Given the description of an element on the screen output the (x, y) to click on. 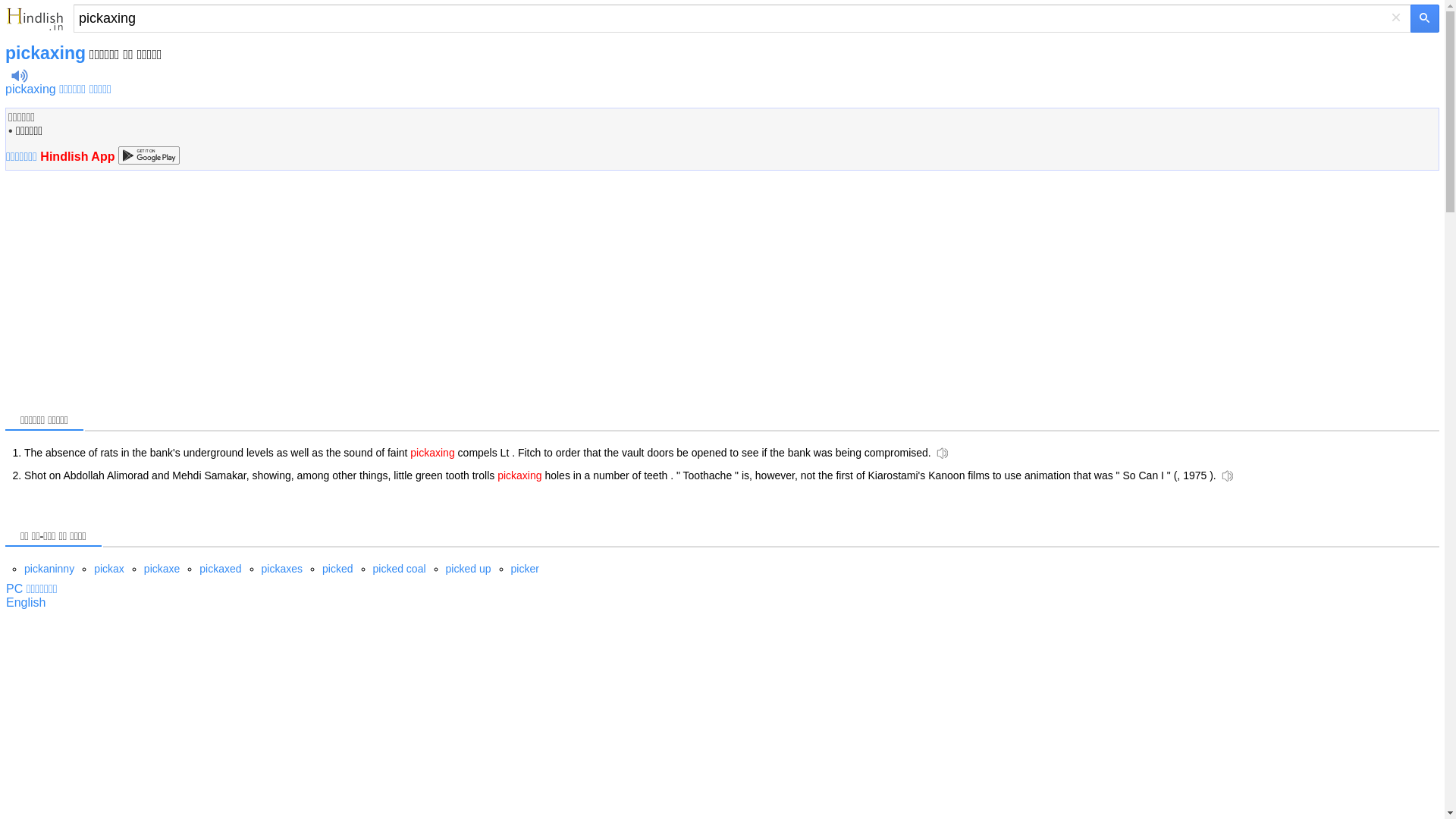
pickaxed (220, 568)
pickaxes (282, 568)
picker (524, 568)
pickax (108, 568)
picked up (468, 568)
picked (336, 568)
picked coal (399, 568)
Search (742, 17)
English (25, 602)
pickaxe (161, 568)
